Given the description of an element on the screen output the (x, y) to click on. 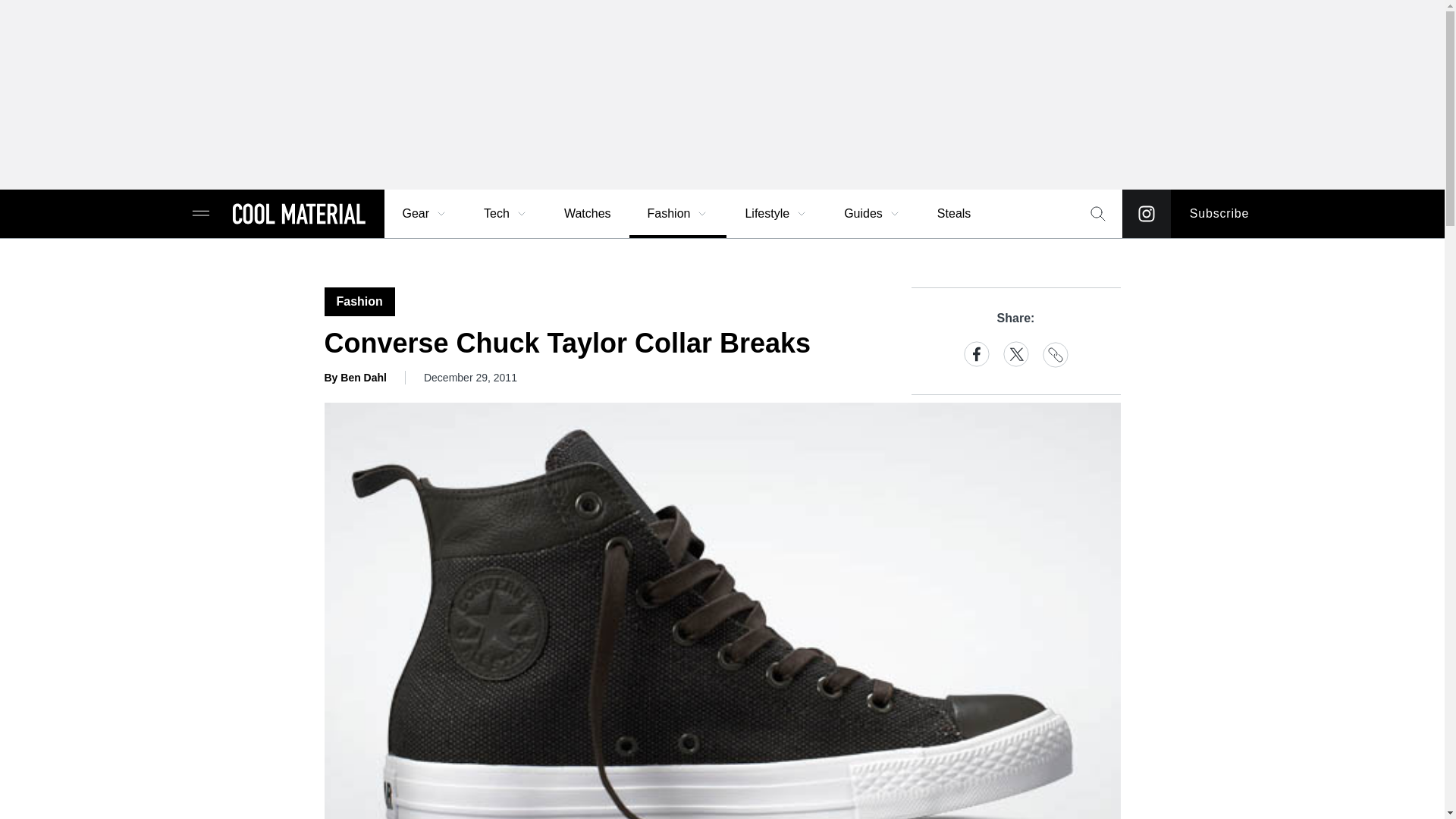
Watches (587, 213)
Tech (505, 213)
Lifestyle (775, 213)
Guides (871, 213)
Fashion (677, 213)
Gear (424, 213)
